Given the description of an element on the screen output the (x, y) to click on. 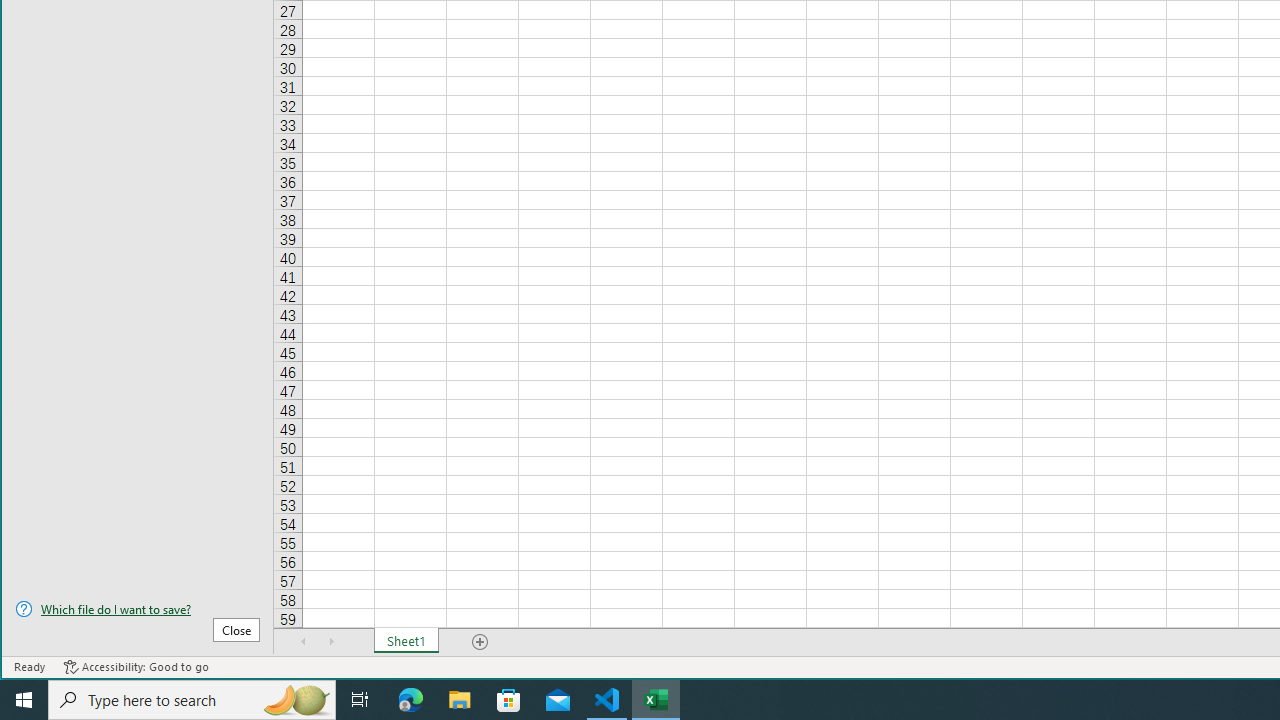
Start (24, 699)
